Given the description of an element on the screen output the (x, y) to click on. 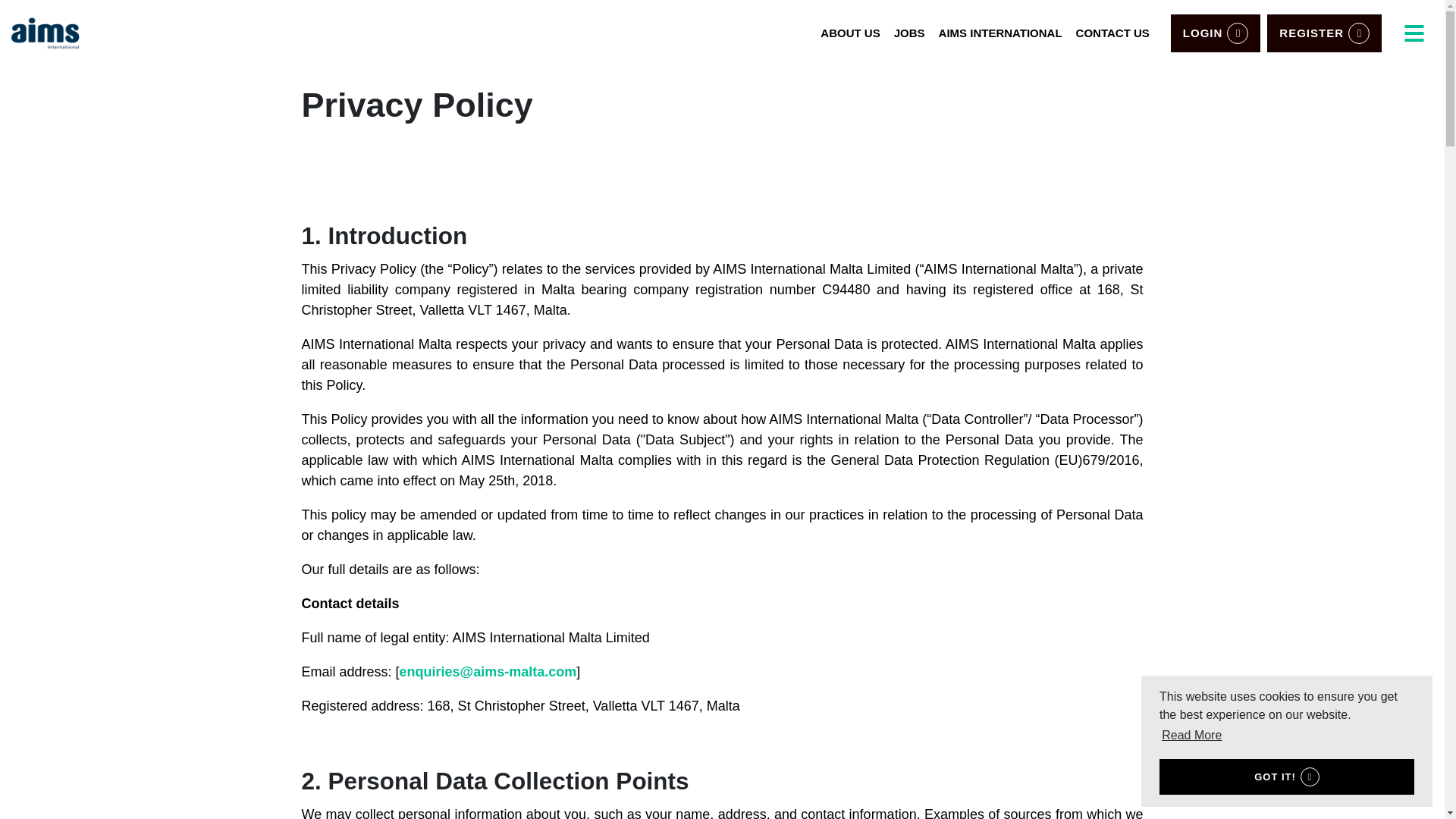
LOGIN (1215, 33)
2. Personal Data Collection Points (494, 780)
GOT IT! (1285, 776)
CONTACT US (1112, 32)
JOBS (908, 32)
1. Introduction (384, 235)
REGISTER (1323, 33)
ABOUT US (849, 32)
Read More (1191, 734)
AIMS INTERNATIONAL (999, 32)
